Given the description of an element on the screen output the (x, y) to click on. 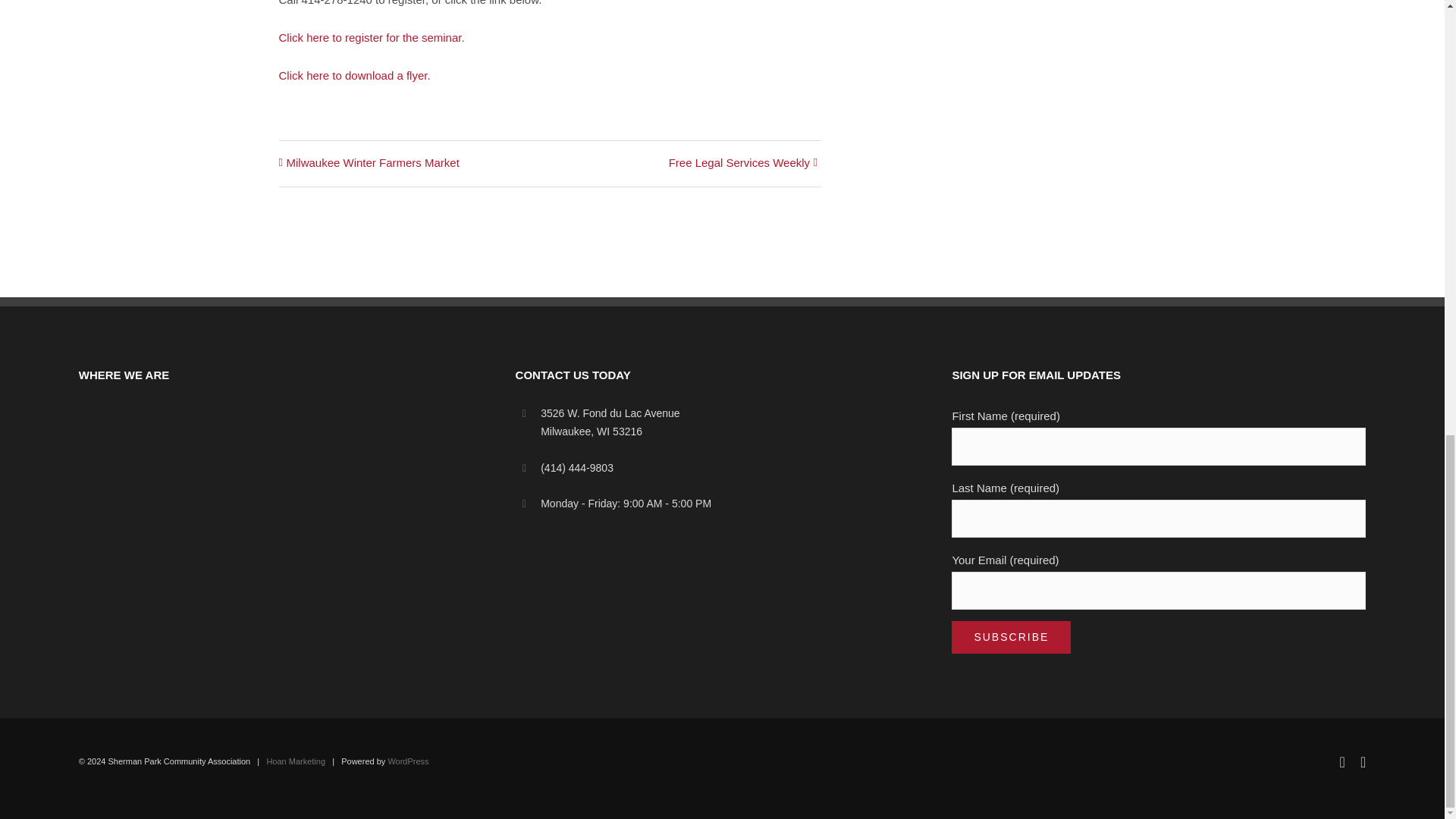
Facebook (1342, 761)
SUBSCRIBE (1011, 636)
Instagram (1362, 761)
